Given the description of an element on the screen output the (x, y) to click on. 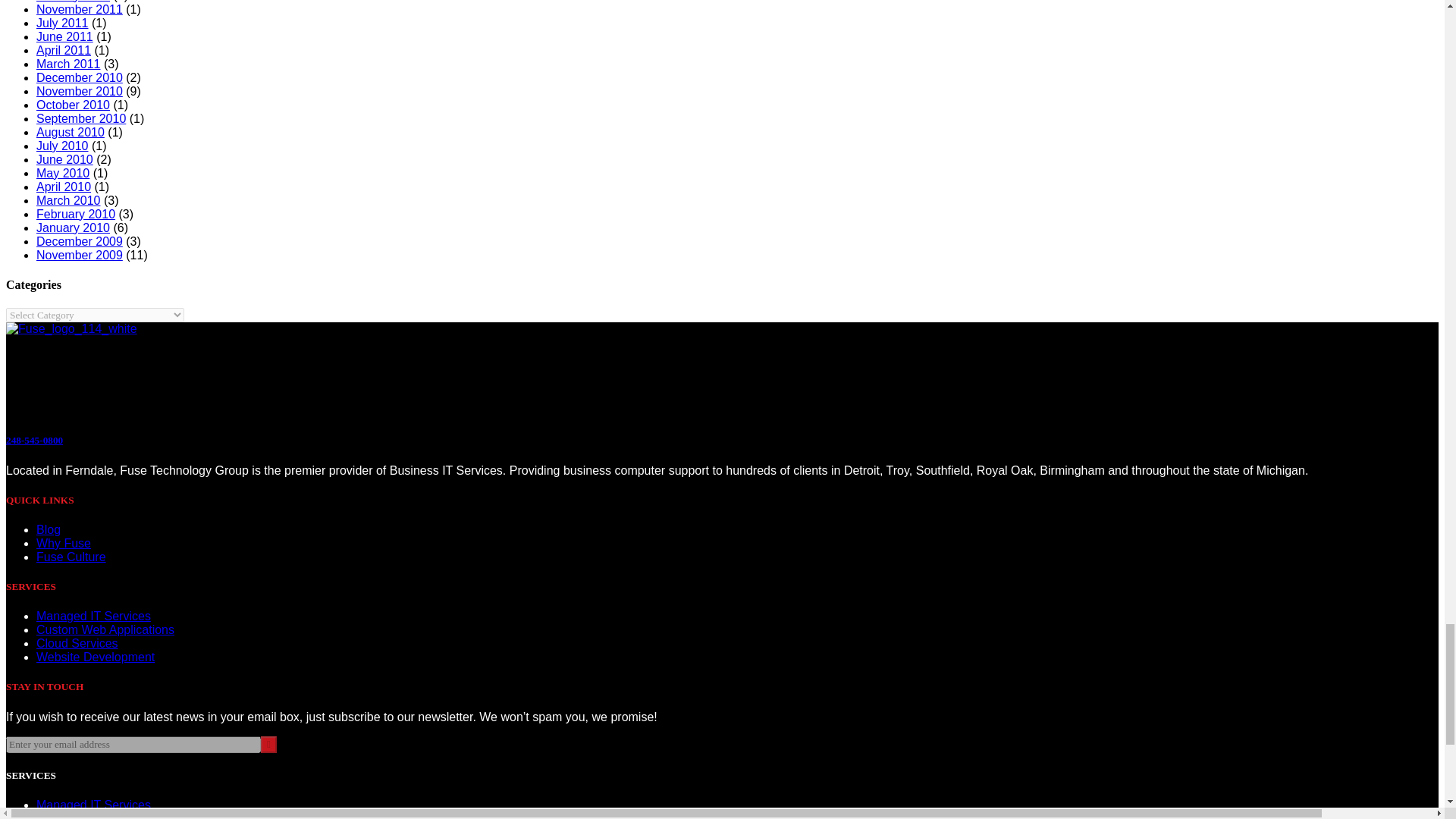
Enter your email address (132, 744)
248-545-0800 (33, 439)
